Given the description of an element on the screen output the (x, y) to click on. 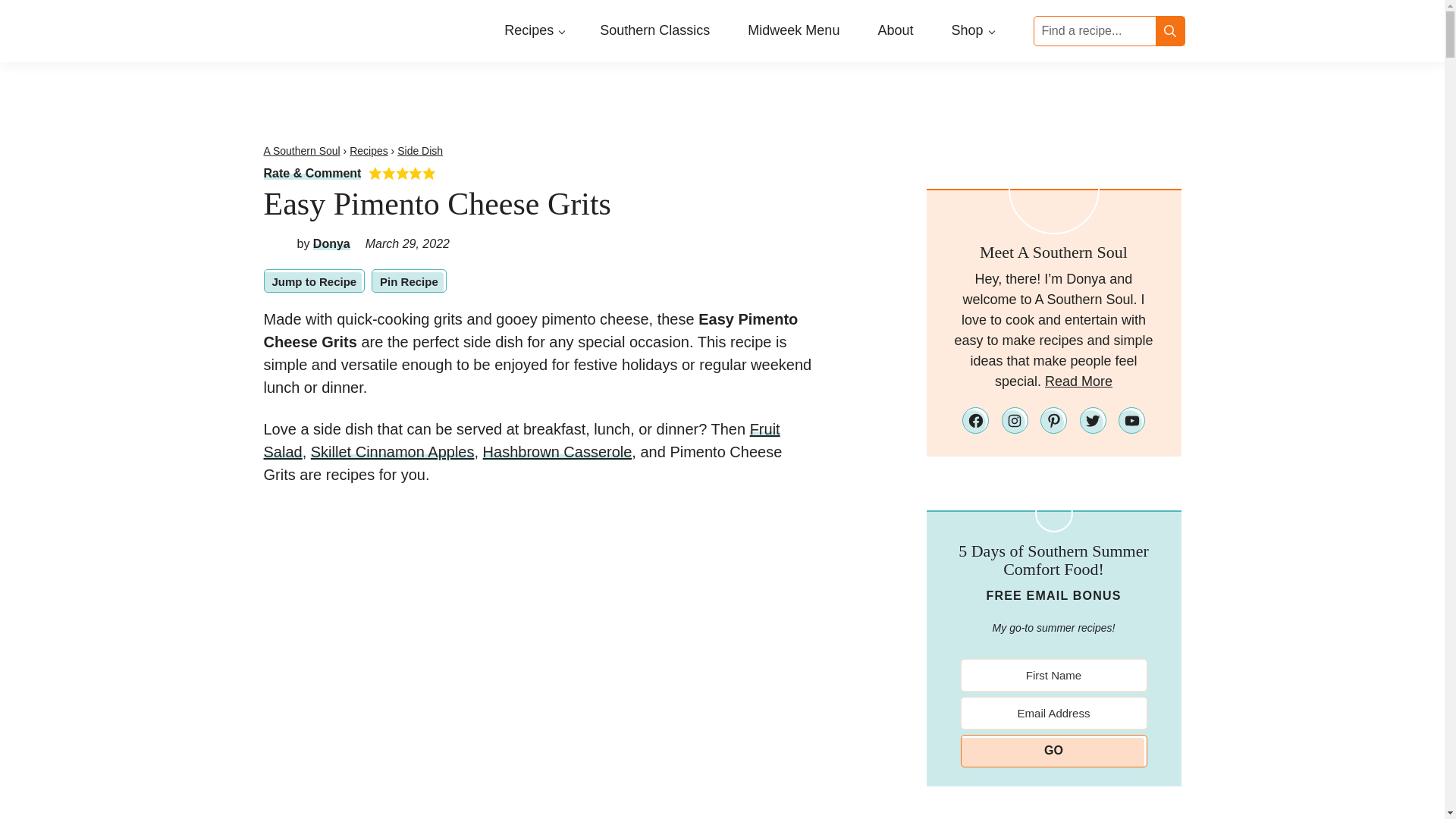
Midweek Menu (794, 30)
Submit search (1170, 30)
Southern Classics (654, 30)
About (894, 30)
Recipes (532, 30)
Submit search (1170, 30)
A Southern Soul (301, 150)
Recipes (368, 150)
Shop (970, 30)
Side Dish (419, 150)
